Given the description of an element on the screen output the (x, y) to click on. 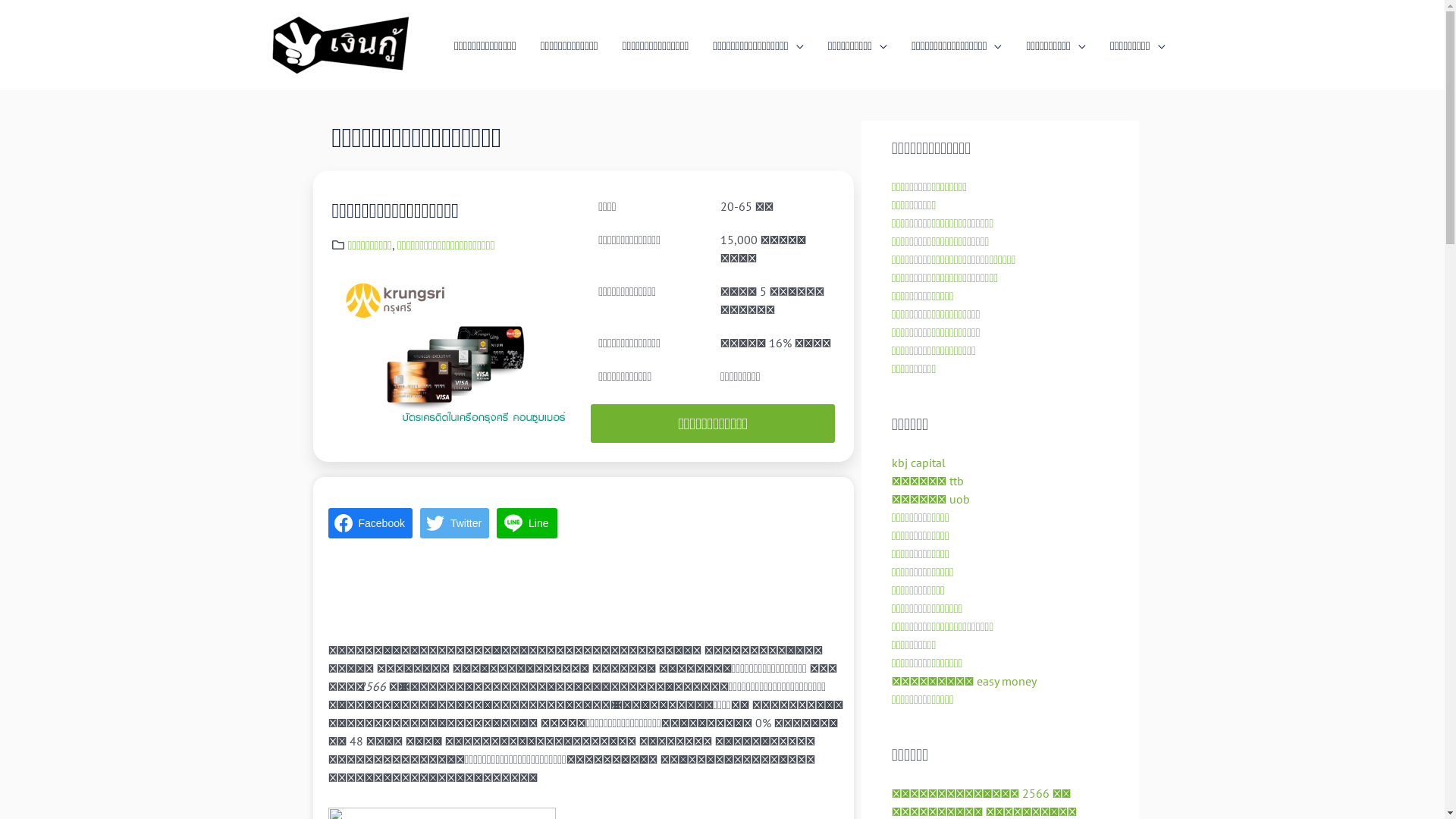
kbj capital Element type: text (918, 462)
Line Element type: text (526, 523)
Twitter Element type: text (454, 523)
Facebook Element type: text (369, 523)
